Given the description of an element on the screen output the (x, y) to click on. 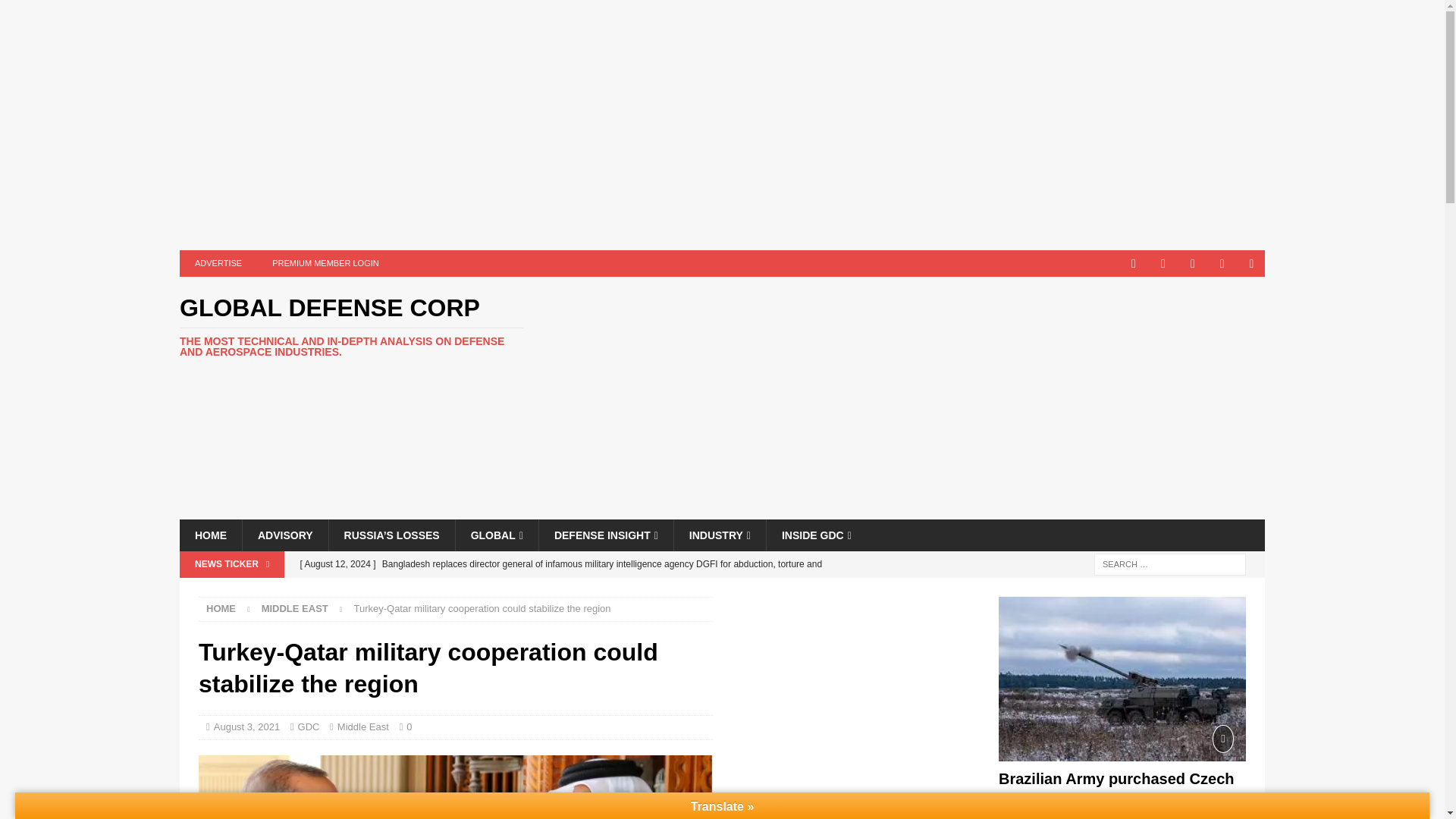
Global Defense Corp (350, 326)
Erdogan in Qatar (455, 787)
HOME (210, 535)
INDUSTRY (718, 535)
Home (220, 608)
ADVISORY (285, 535)
GLOBAL (496, 535)
